Given the description of an element on the screen output the (x, y) to click on. 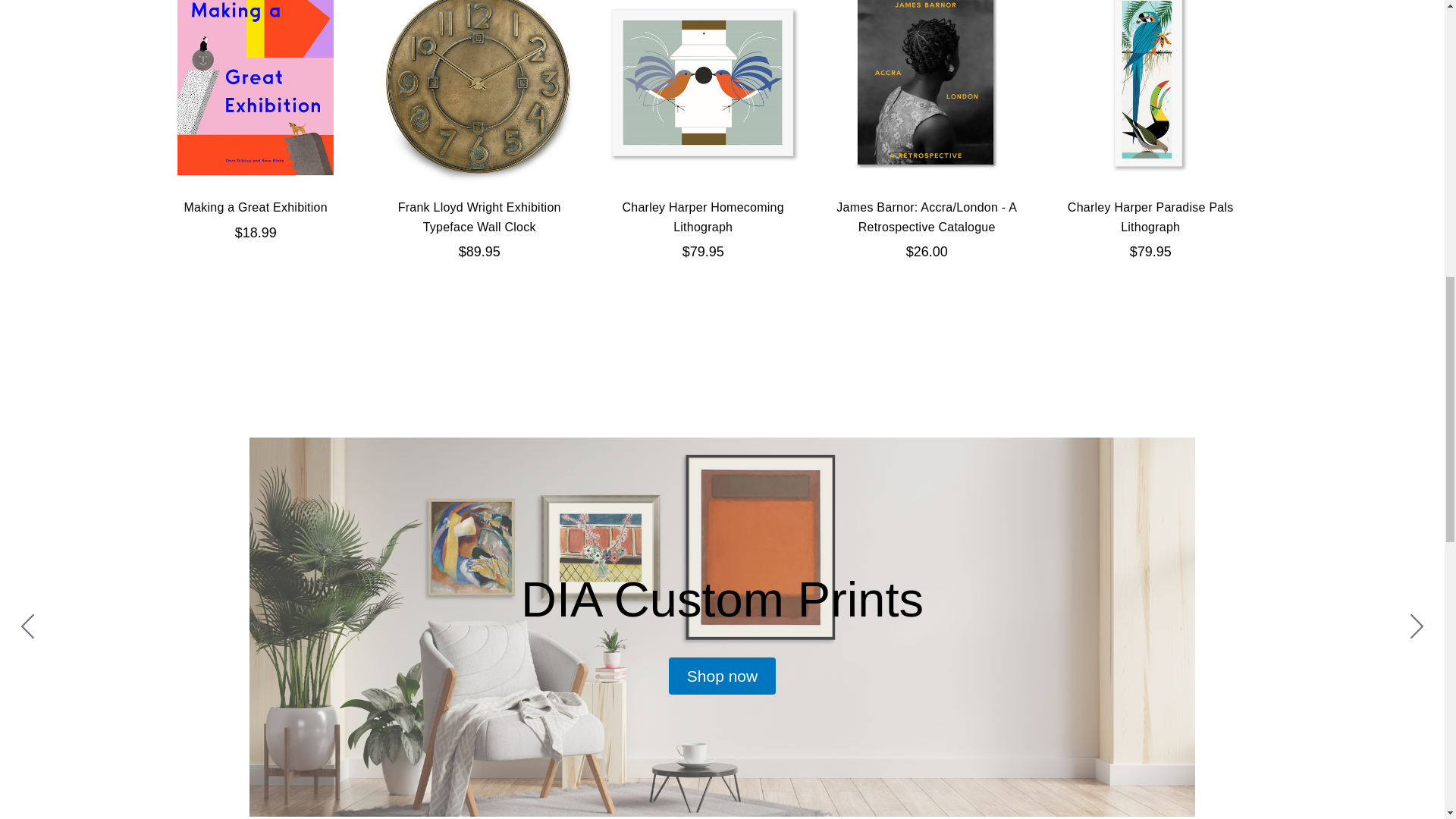
Charley Harper Homecoming Lithograph (702, 91)
Making a Great Exhibition (254, 91)
Charley Harper Paradise Pals Lithograph (1150, 91)
Frank Lloyd Wright Exhibition Typeface Wall Clock (478, 91)
